Given the description of an element on the screen output the (x, y) to click on. 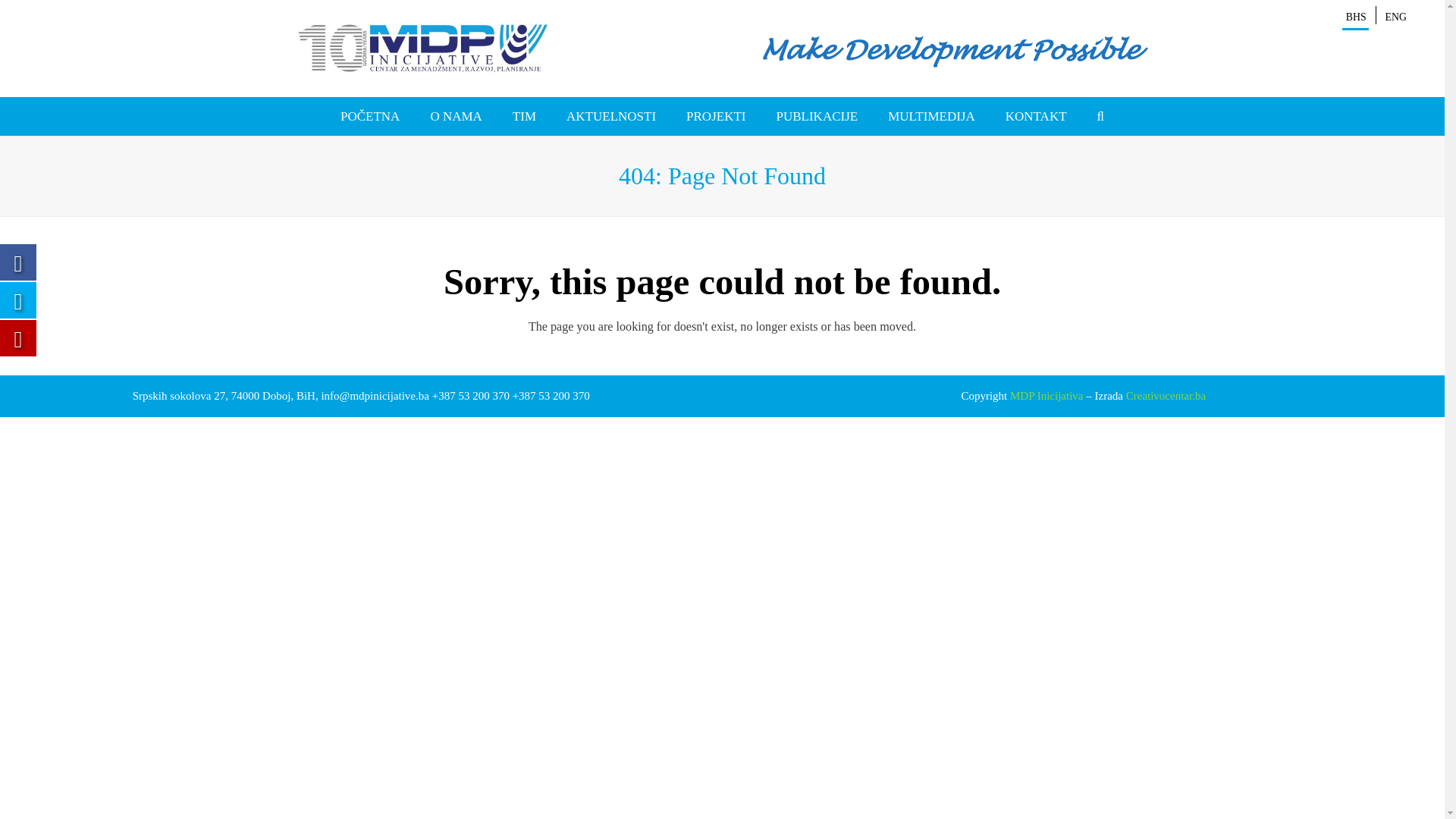
PROJEKTI Element type: text (715, 116)
Creativocentar.ba Element type: text (1165, 395)
KONTAKT Element type: text (1036, 116)
AKTUELNOSTI Element type: text (611, 116)
PUBLIKACIJE Element type: text (816, 116)
O NAMA Element type: text (455, 116)
ENG Element type: text (1395, 16)
MDP Inicijativa Element type: text (1046, 395)
BHS Element type: text (1356, 16)
TIM Element type: text (524, 116)
MULTIMEDIJA Element type: text (931, 116)
